Given the description of an element on the screen output the (x, y) to click on. 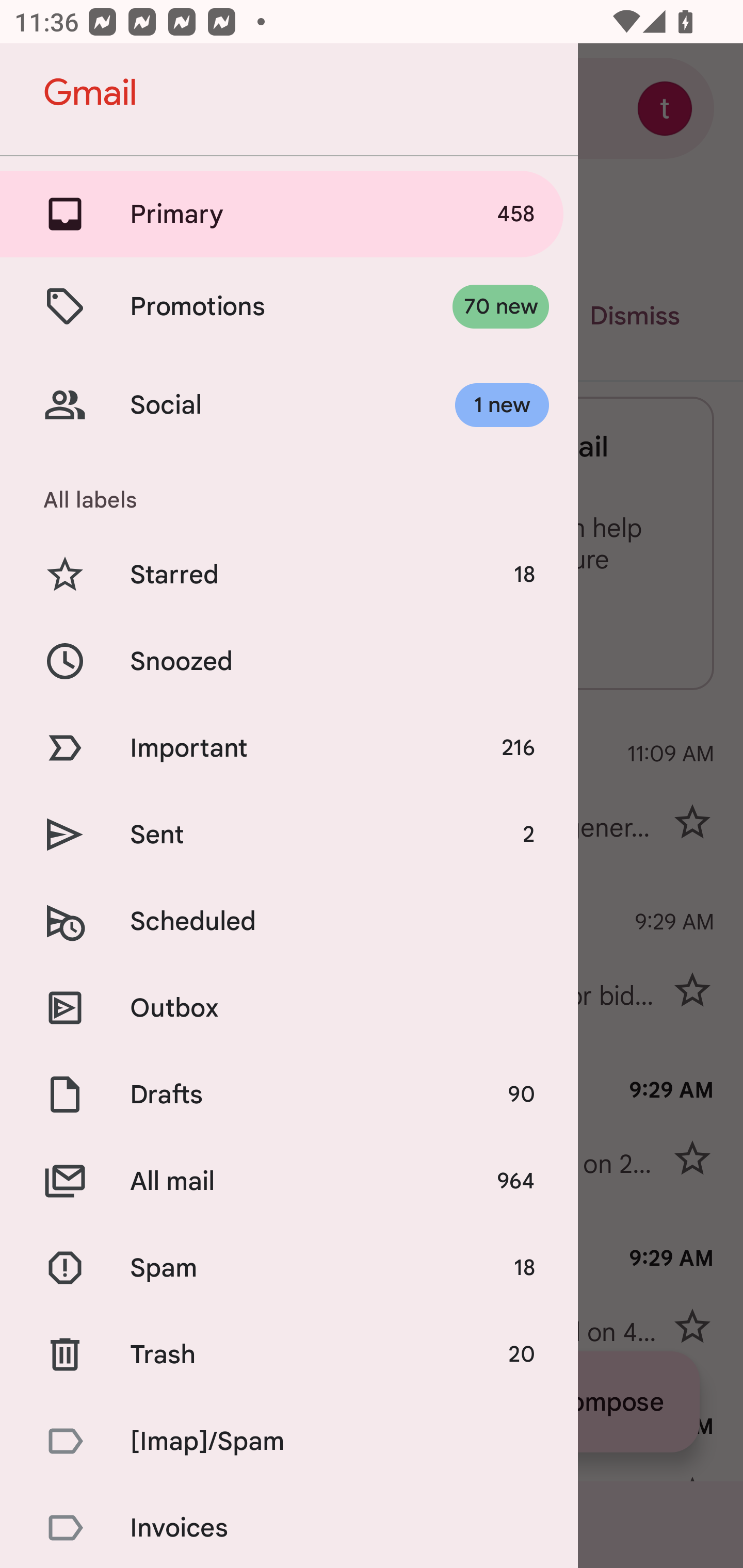
Primary 458 (289, 213)
Promotions 70 new (289, 306)
Social 1 new (289, 404)
Starred 18 (289, 574)
Snoozed (289, 660)
Important 216 (289, 747)
Sent 2 (289, 834)
Scheduled (289, 921)
Outbox (289, 1007)
Drafts 90 (289, 1094)
All mail 964 (289, 1181)
Spam 18 (289, 1267)
Trash 20 (289, 1353)
[Imap]/Spam (289, 1440)
Invoices (289, 1526)
